Given the description of an element on the screen output the (x, y) to click on. 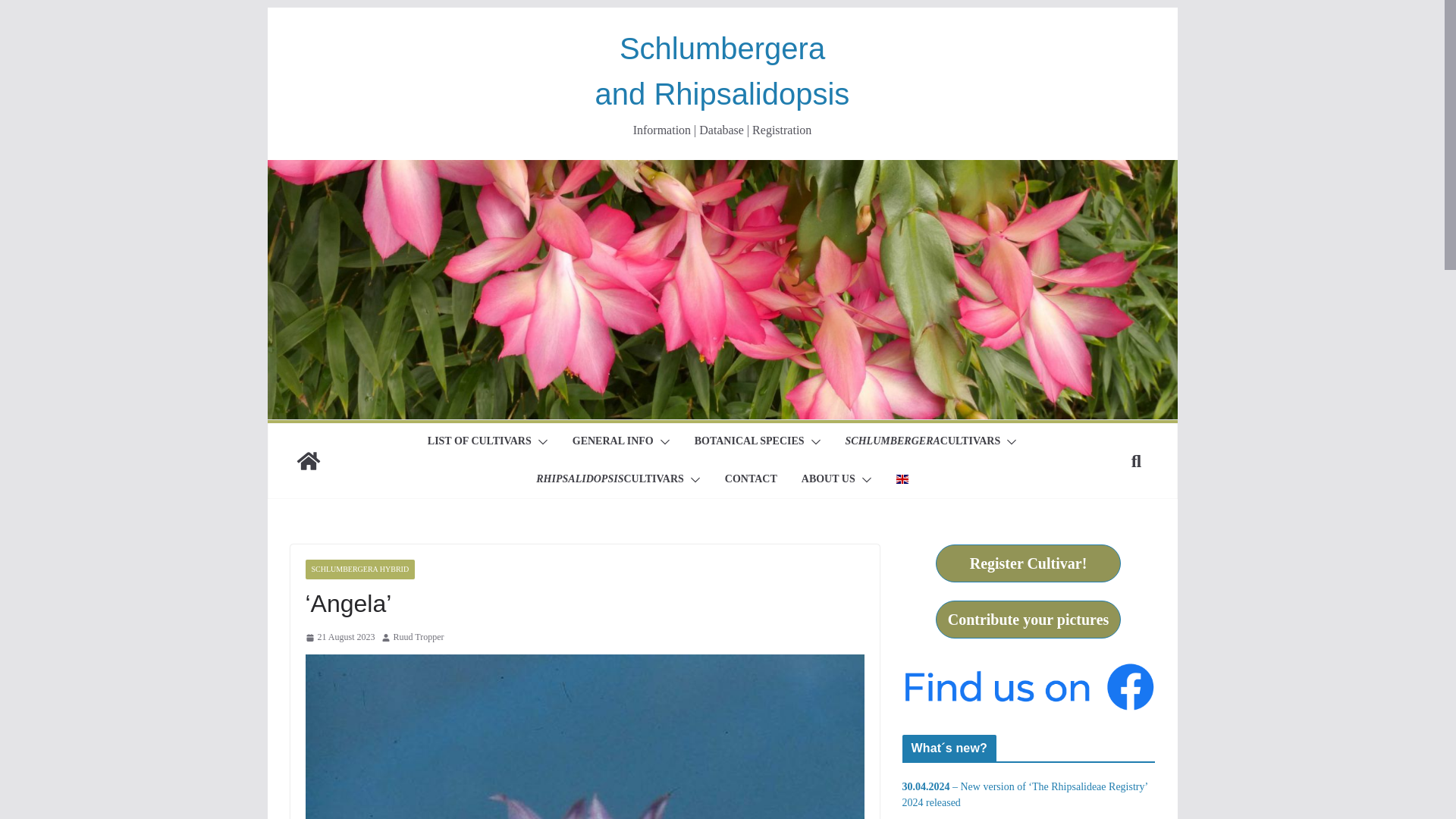
10:00 am (339, 637)
English (902, 479)
Schlumbergera and Rhipsalidopsis (307, 461)
BOTANICAL SPECIES (749, 441)
Schlumbergera and Rhipsalidopsis (721, 169)
Schlumbergera and Rhipsalidopsis (722, 70)
GENERAL INFO (612, 441)
Schlumbergera and Rhipsalidopsis (722, 70)
Ruud Tropper (418, 637)
LIST OF CULTIVARS (479, 441)
